Given the description of an element on the screen output the (x, y) to click on. 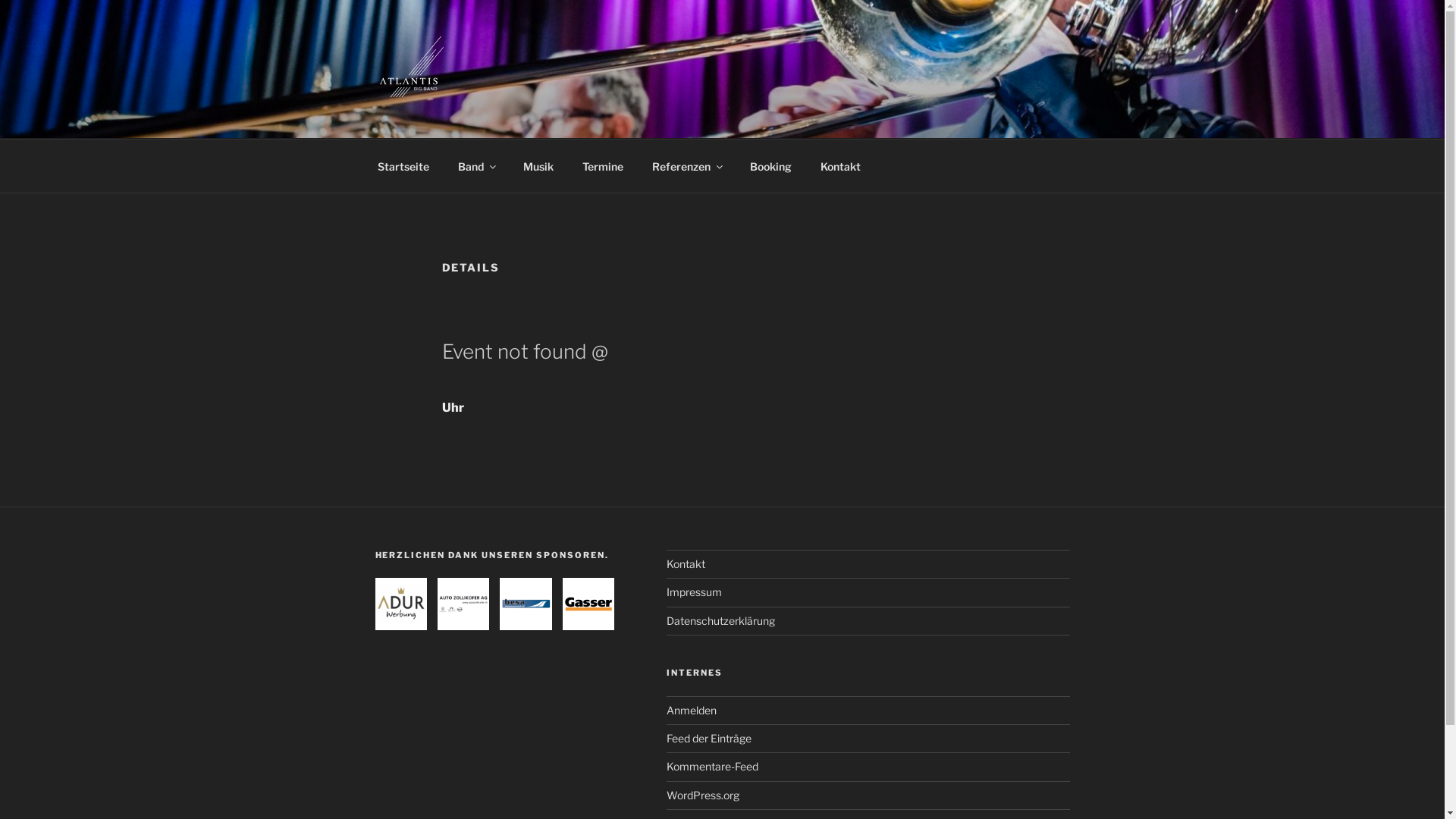
Kommentare-Feed Element type: text (712, 765)
Kontakt Element type: text (685, 563)
Musik Element type: text (537, 165)
Booking Element type: text (771, 165)
Startseite Element type: text (403, 165)
WordPress.org Element type: text (702, 794)
Impressum Element type: text (693, 591)
Anmelden Element type: text (691, 709)
ATLANTIS BIG BAND Element type: text (539, 118)
Termine Element type: text (602, 165)
Zum Inhalt springen Element type: text (0, 0)
Band Element type: text (475, 165)
Kontakt Element type: text (839, 165)
Referenzen Element type: text (686, 165)
